Given the description of an element on the screen output the (x, y) to click on. 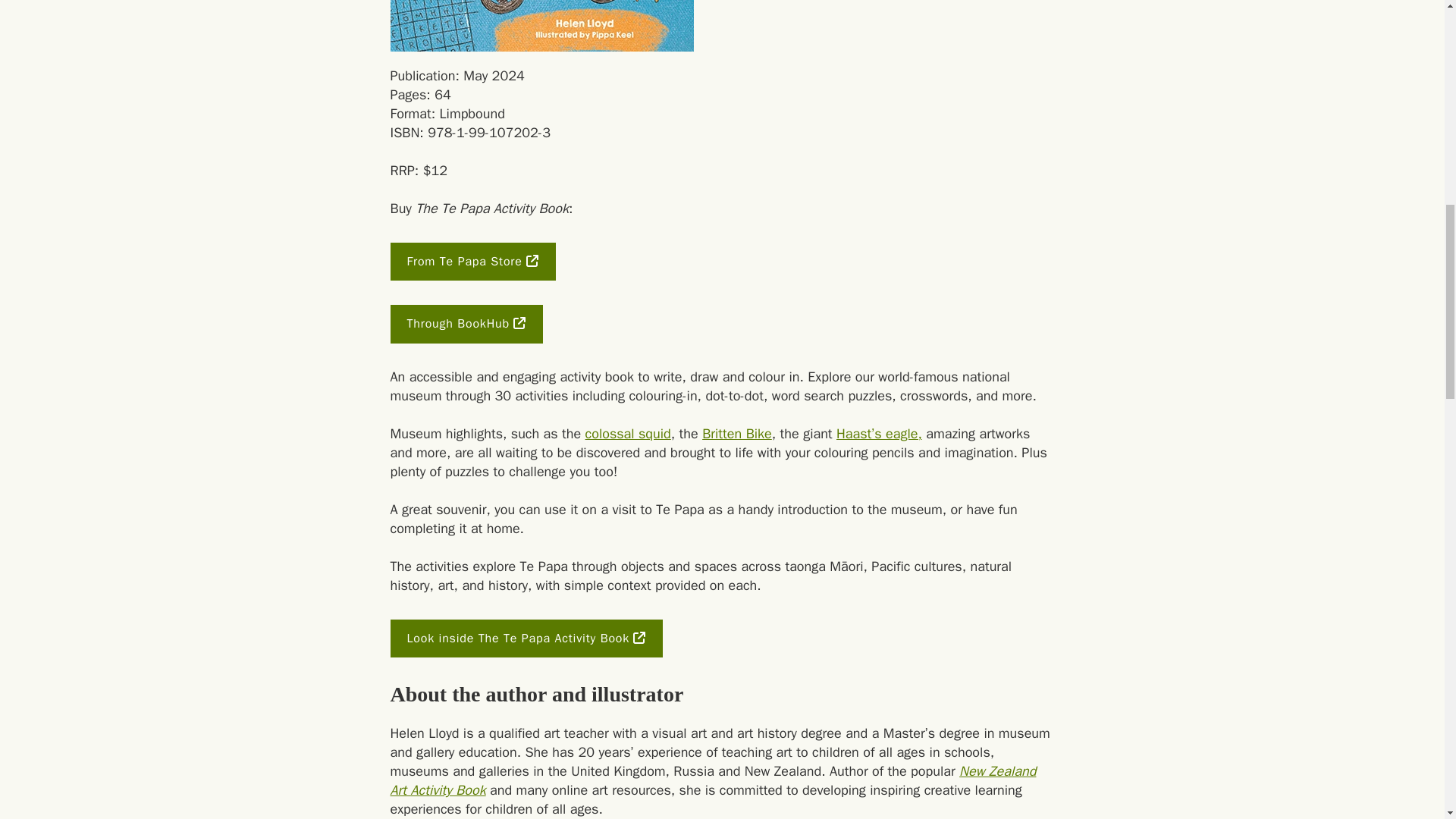
colossal squid (628, 433)
From Te Papa Store (472, 261)
Through BookHub (465, 323)
Britten Bike (736, 433)
New Zealand Art Activity Book (712, 780)
Look inside The Te Papa Activity Book (526, 638)
